Given the description of an element on the screen output the (x, y) to click on. 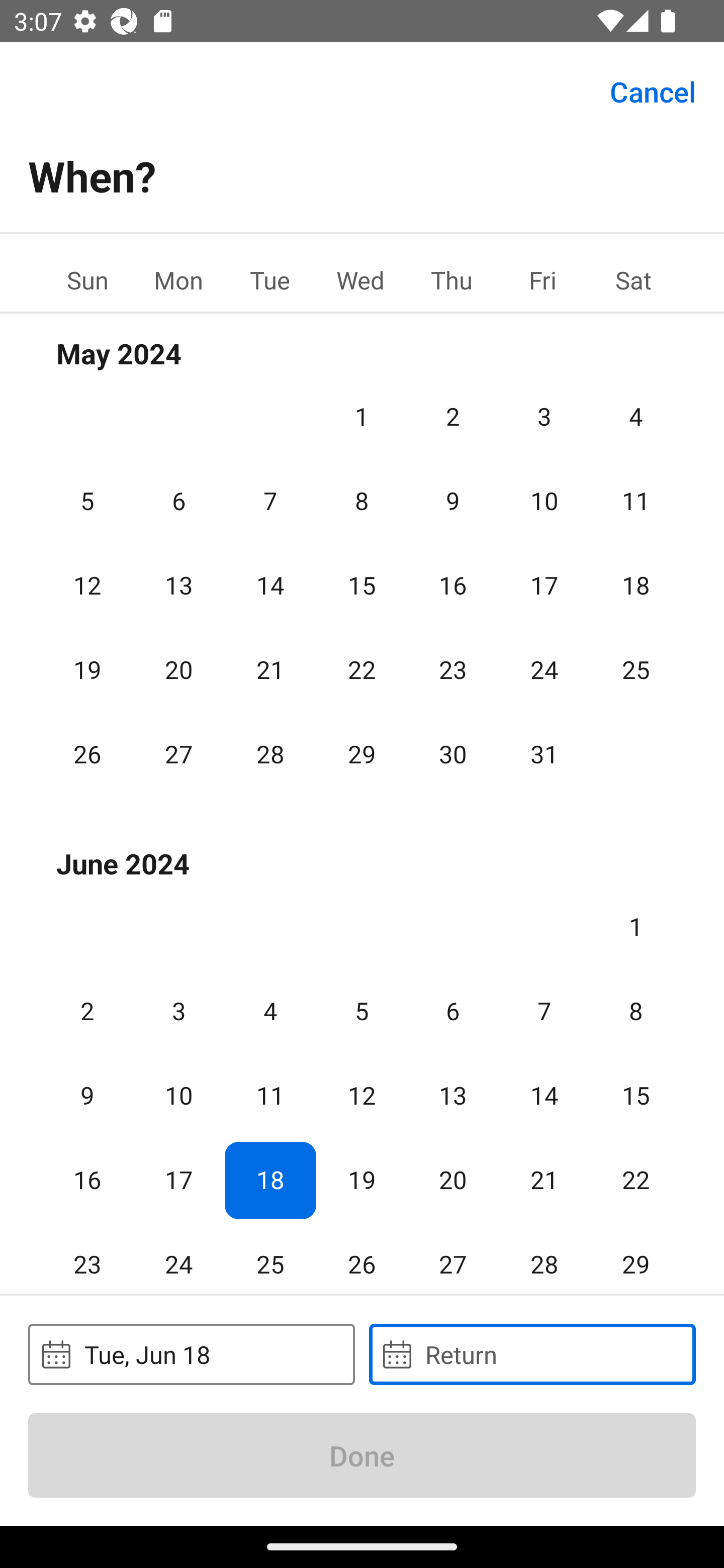
Cancel (652, 90)
Tue, Jun 18 (191, 1353)
Return (532, 1353)
Done (361, 1454)
